Given the description of an element on the screen output the (x, y) to click on. 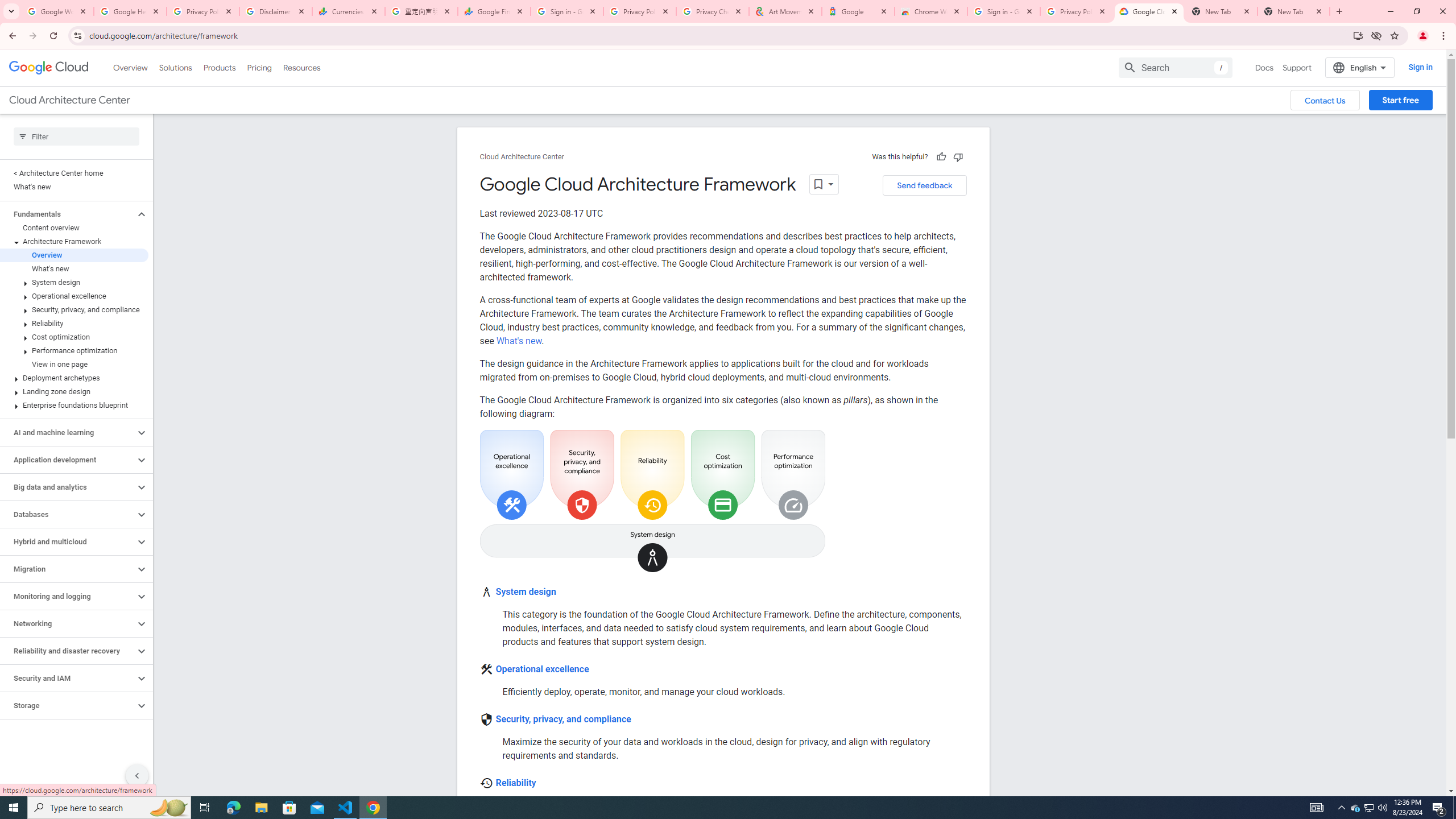
Fundamentals (67, 214)
Content overview (74, 228)
Support (1296, 67)
Currencies - Google Finance (348, 11)
Operational excellence (74, 296)
Monitoring and logging (67, 596)
What's new (518, 340)
Application development (67, 459)
Google Cloud (48, 67)
Big data and analytics (67, 486)
Helpful (940, 156)
